Given the description of an element on the screen output the (x, y) to click on. 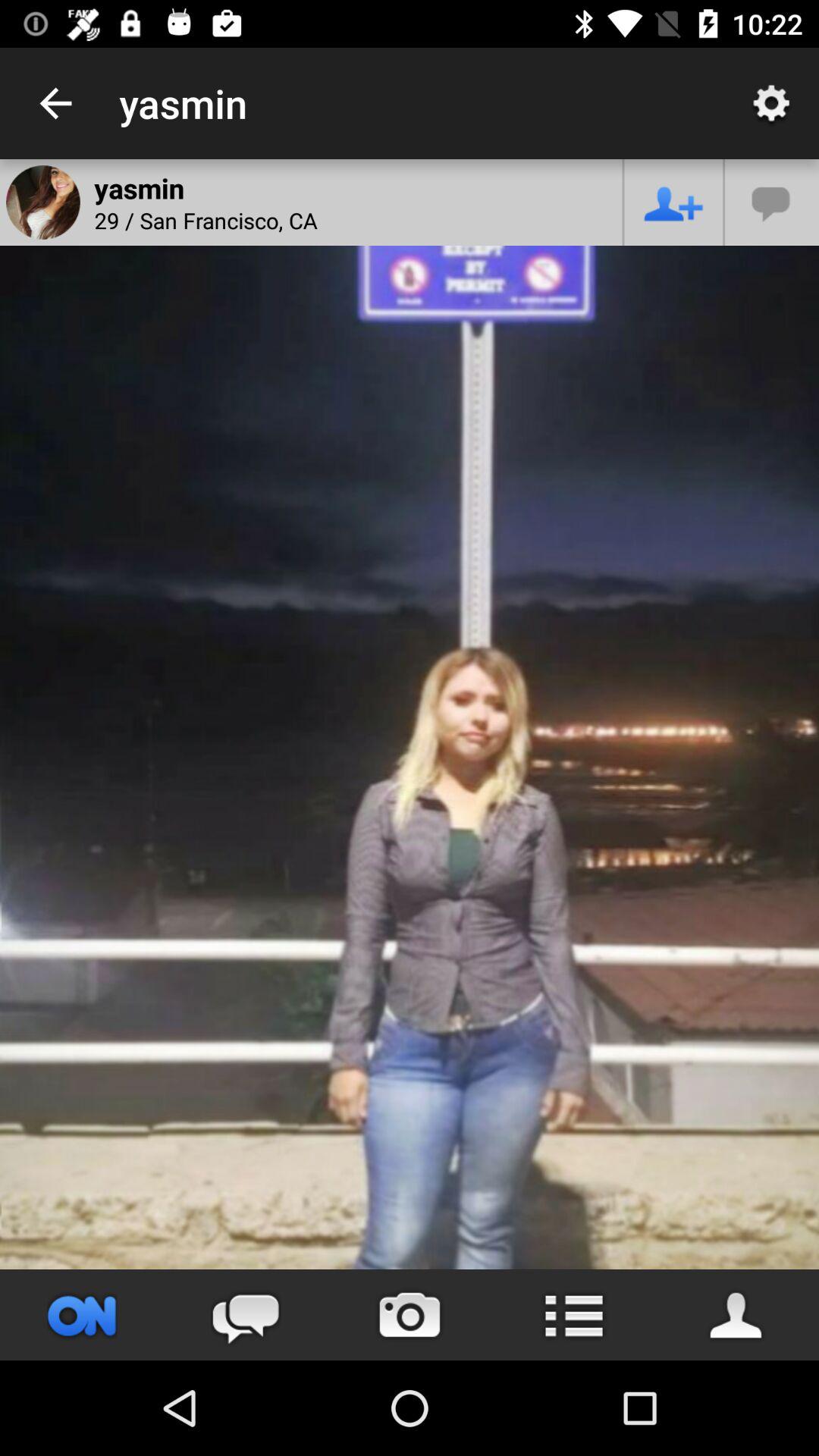
turn off the app next to yasmin icon (55, 103)
